Given the description of an element on the screen output the (x, y) to click on. 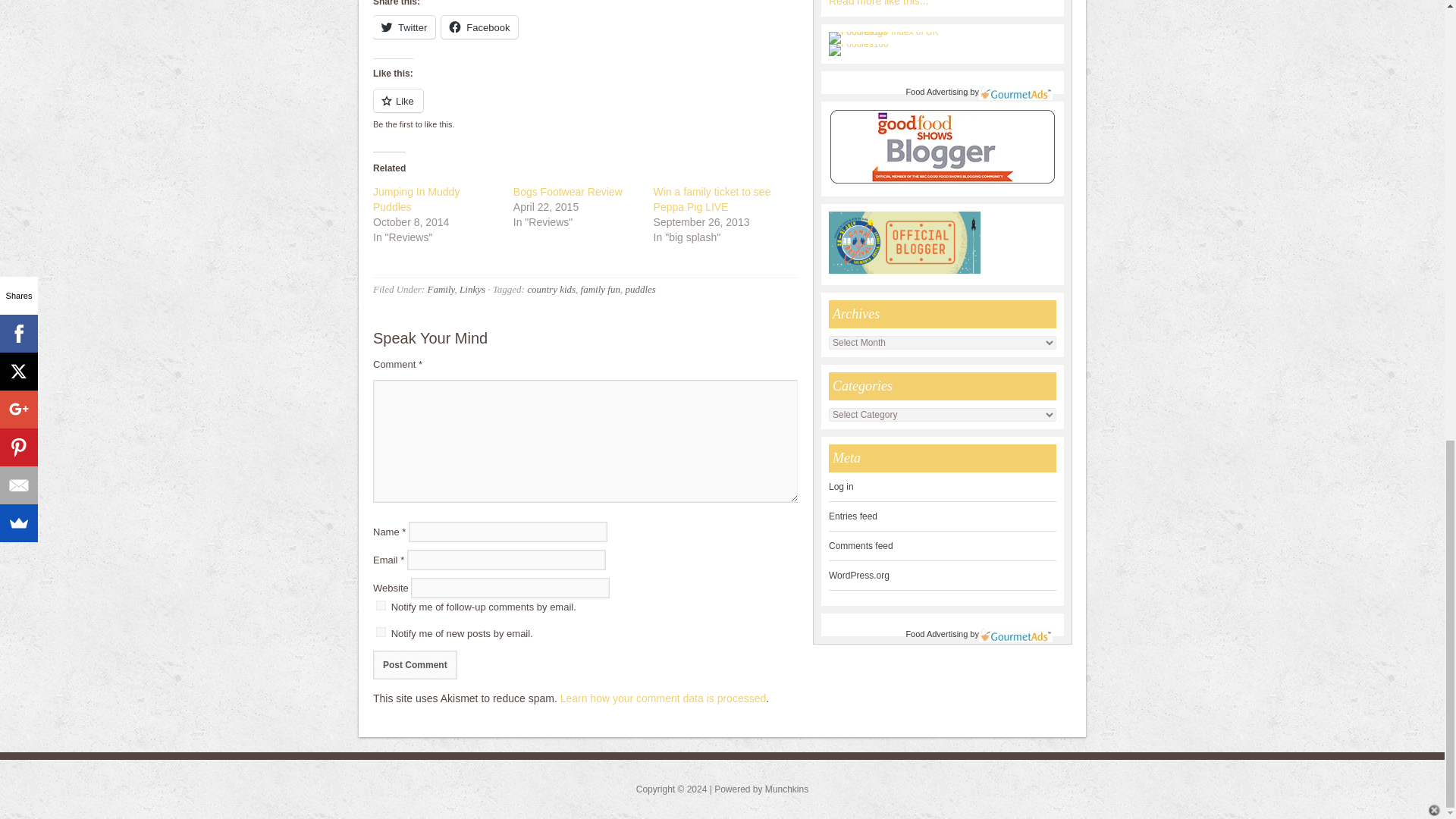
Win a family ticket to see Peppa Pig LIVE (712, 198)
Like or Reblog (584, 109)
Post Comment (414, 664)
Click to share on Facebook (479, 26)
Twitter (403, 26)
country kids (551, 288)
Facebook (479, 26)
subscribe (380, 632)
family fun (600, 288)
Learn how your comment data is processed (663, 698)
puddles (639, 288)
Recipe Development (878, 3)
Jumping In Muddy Puddles (416, 198)
Linkys (472, 288)
Jumping In Muddy Puddles (416, 198)
